Given the description of an element on the screen output the (x, y) to click on. 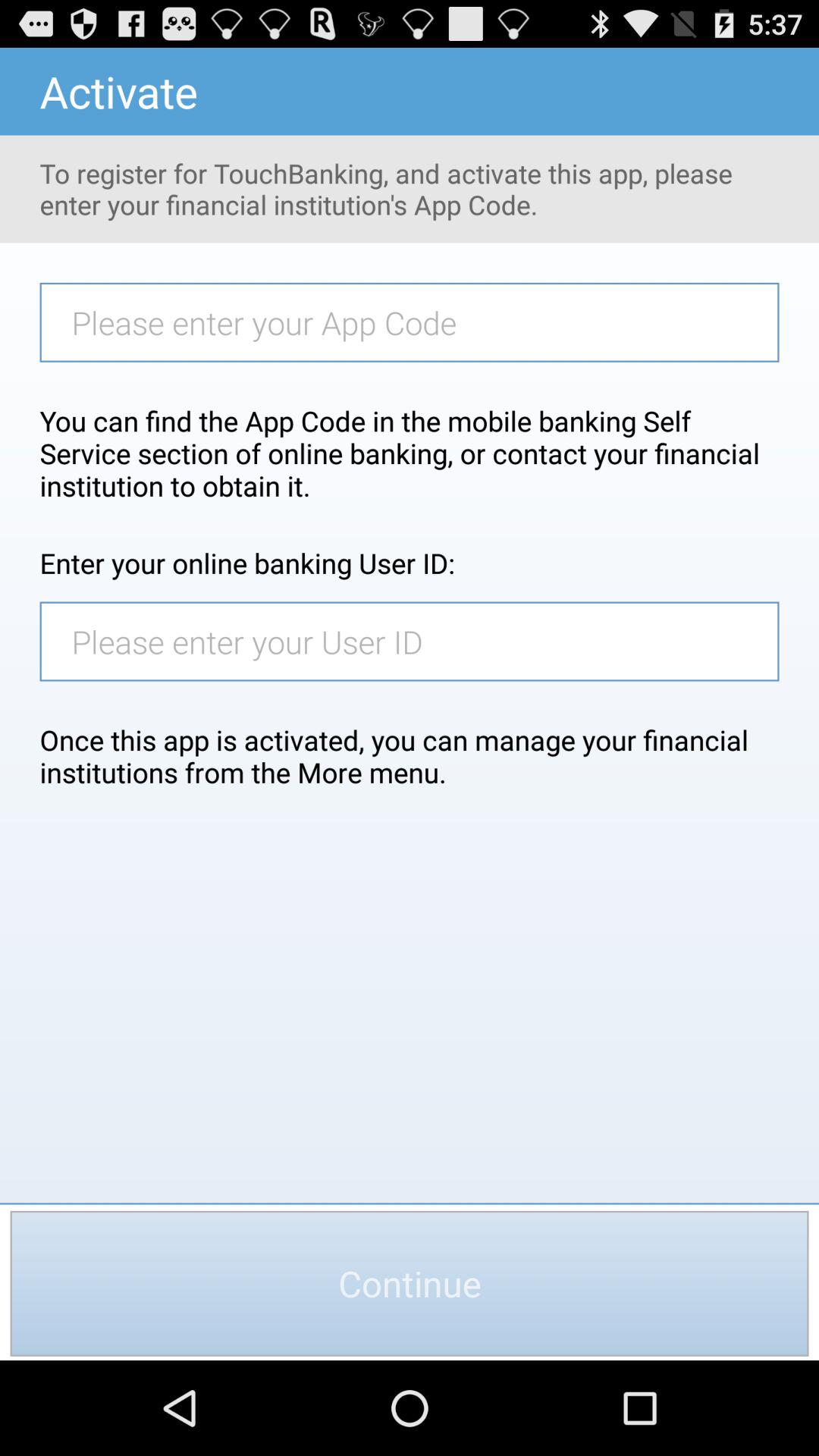
add code (417, 322)
